Given the description of an element on the screen output the (x, y) to click on. 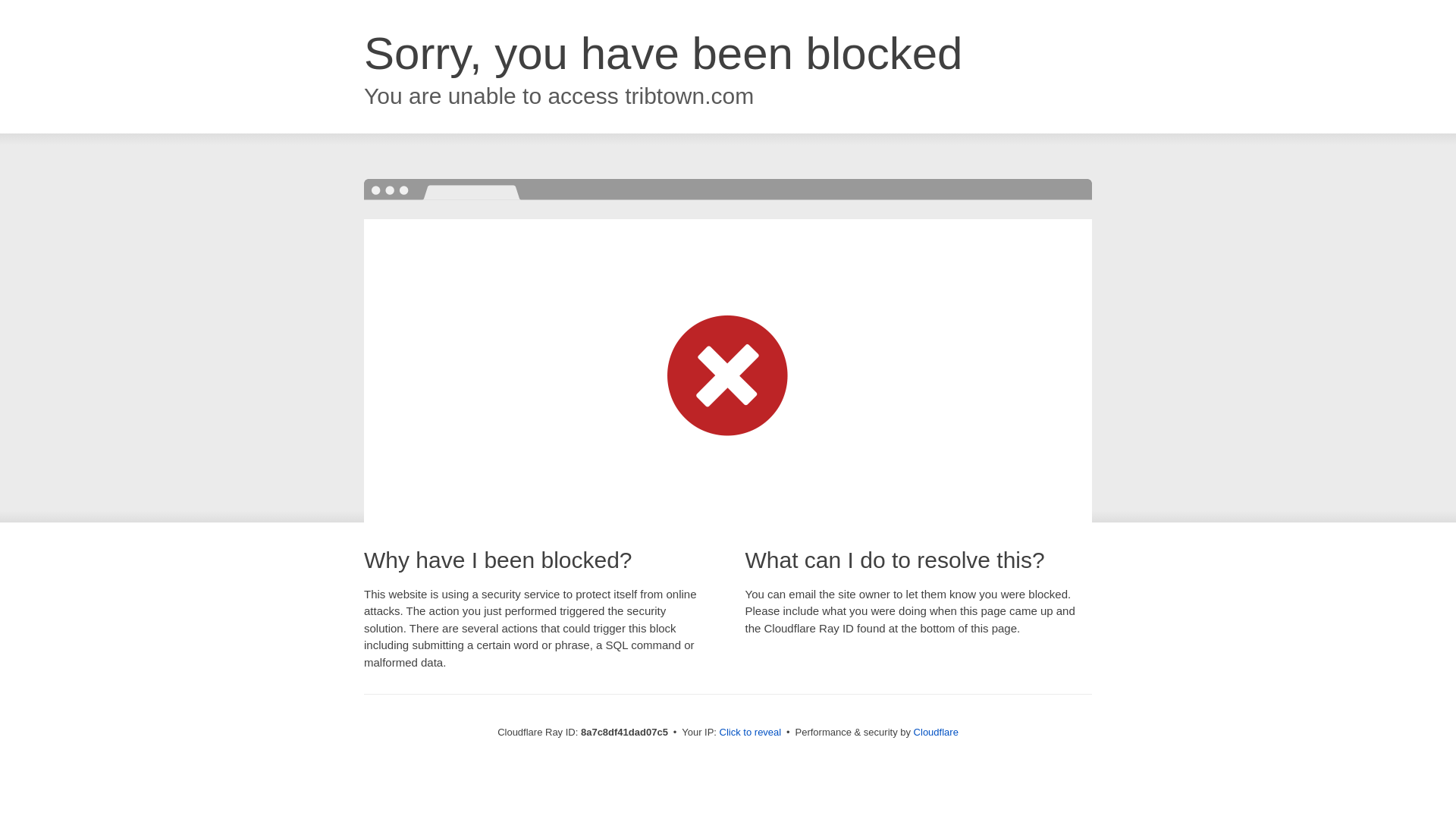
Cloudflare (936, 731)
Click to reveal (750, 732)
